Given the description of an element on the screen output the (x, y) to click on. 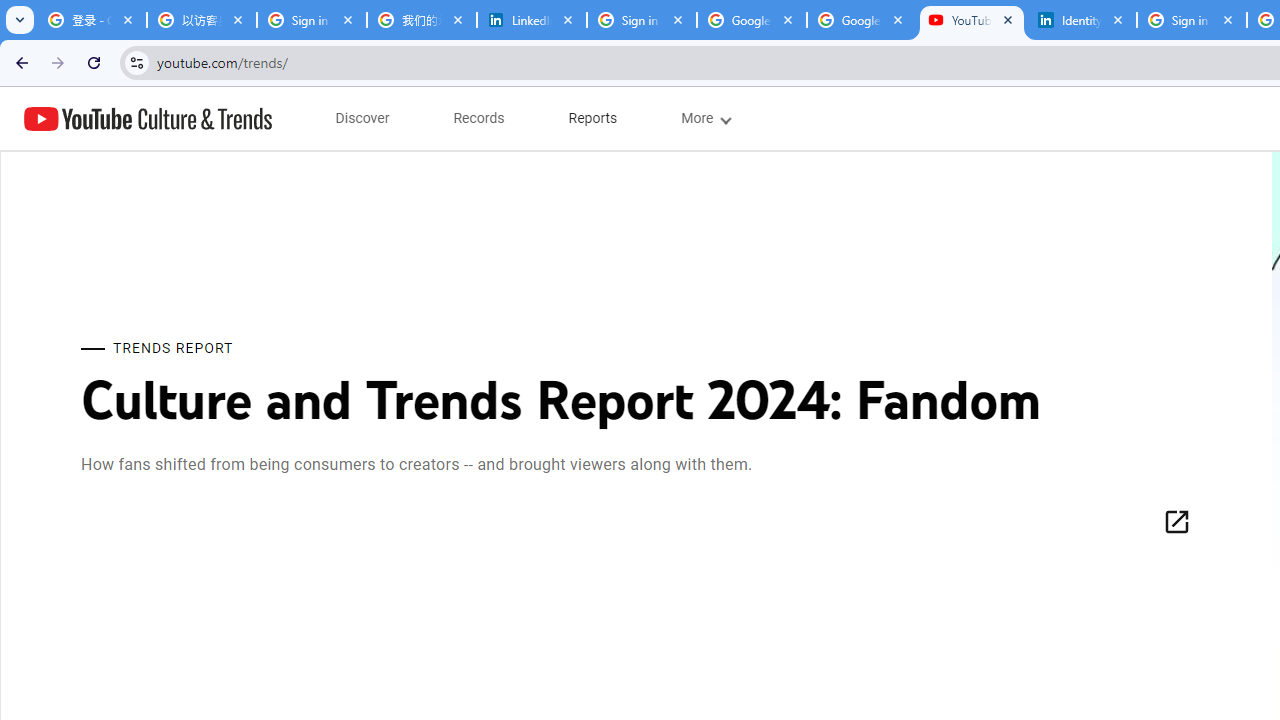
Sign in - Google Accounts (642, 20)
Sign in - Google Accounts (1191, 20)
YouTube Culture & Trends (147, 118)
subnav-Discover menupopup (362, 118)
JUMP TO CONTENT (209, 119)
subnav-Records menupopup (479, 118)
subnav-More menupopup (704, 118)
subnav-Reports menupopup (593, 118)
